Given the description of an element on the screen output the (x, y) to click on. 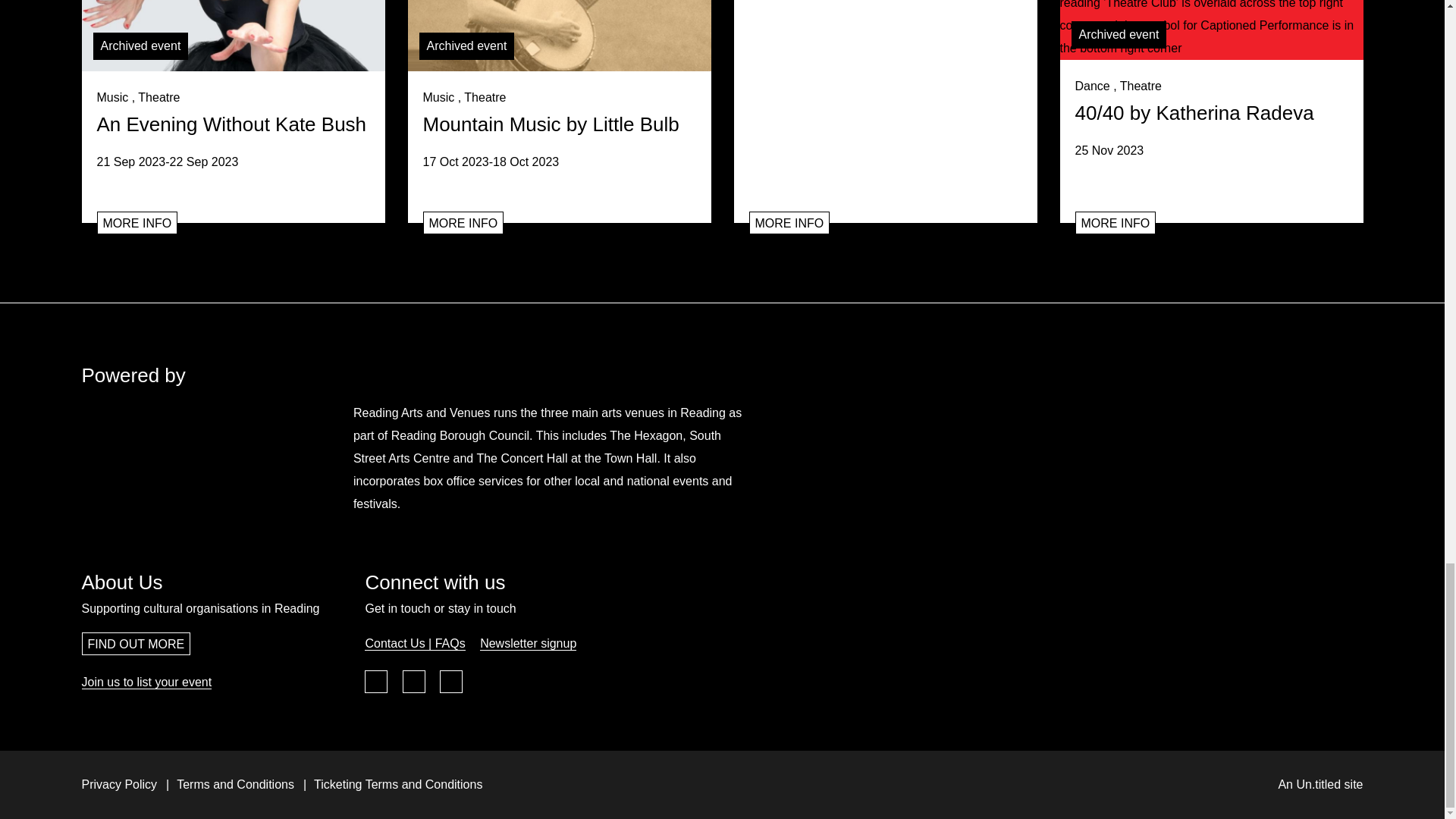
TWITTER (414, 681)
MORE INFO (789, 222)
Find out more about Reading Arts and Venues (156, 458)
FIND OUT MORE (135, 643)
Open Mountain Music by Little Bulb (559, 35)
MORE INFO (463, 222)
MORE INFO (1115, 222)
Find out more about Concert Hall (1323, 458)
